Given the description of an element on the screen output the (x, y) to click on. 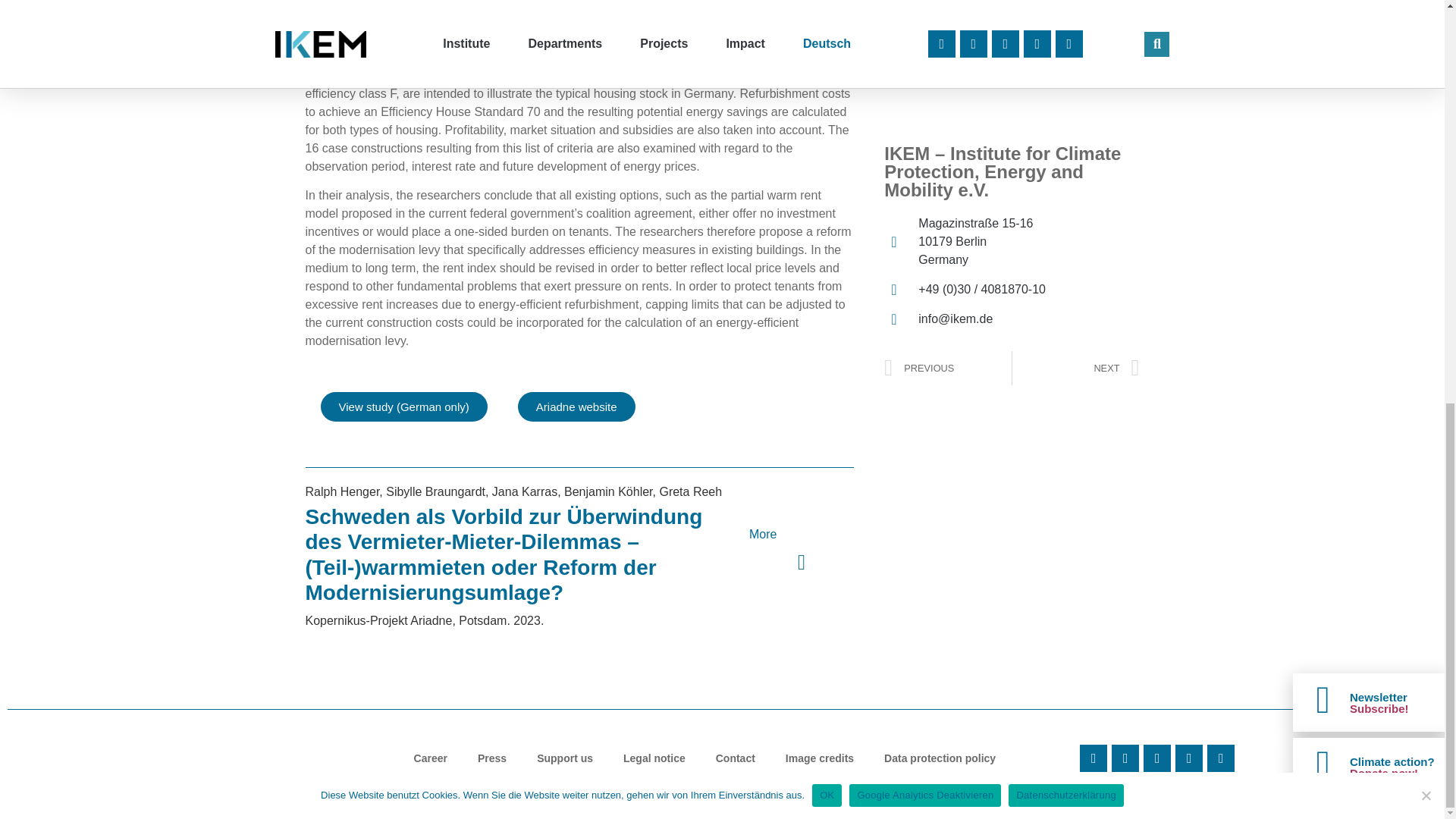
Google Analytics Deaktivieren (1425, 4)
